Given the description of an element on the screen output the (x, y) to click on. 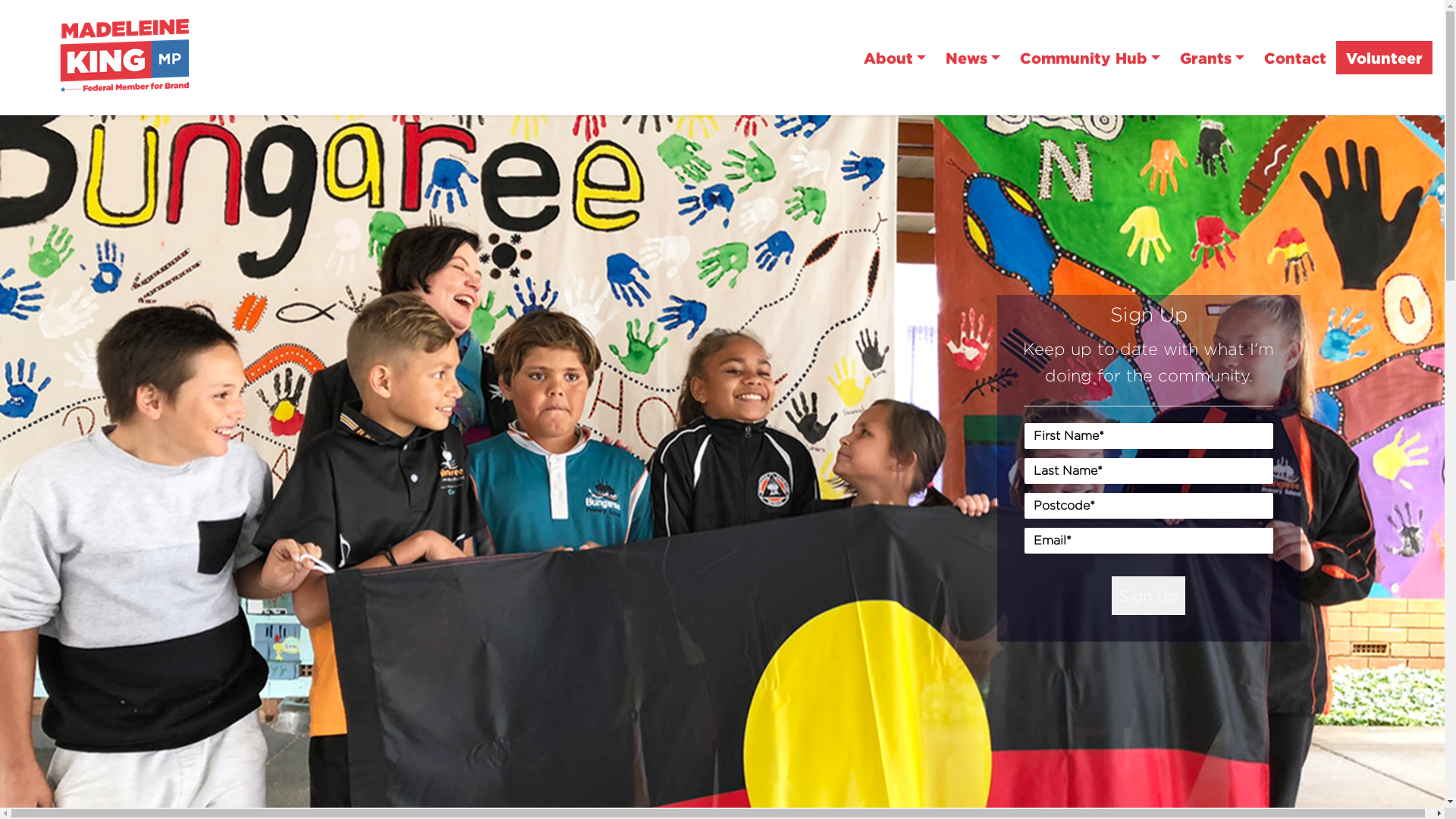
Sign Up Element type: text (1148, 595)
Grants Element type: text (1212, 57)
News Element type: text (972, 57)
Contact Element type: text (1295, 57)
Madeleine King Element type: hover (132, 56)
Volunteer Element type: text (1384, 57)
Community Hub Element type: text (1090, 57)
About Element type: text (894, 57)
